Given the description of an element on the screen output the (x, y) to click on. 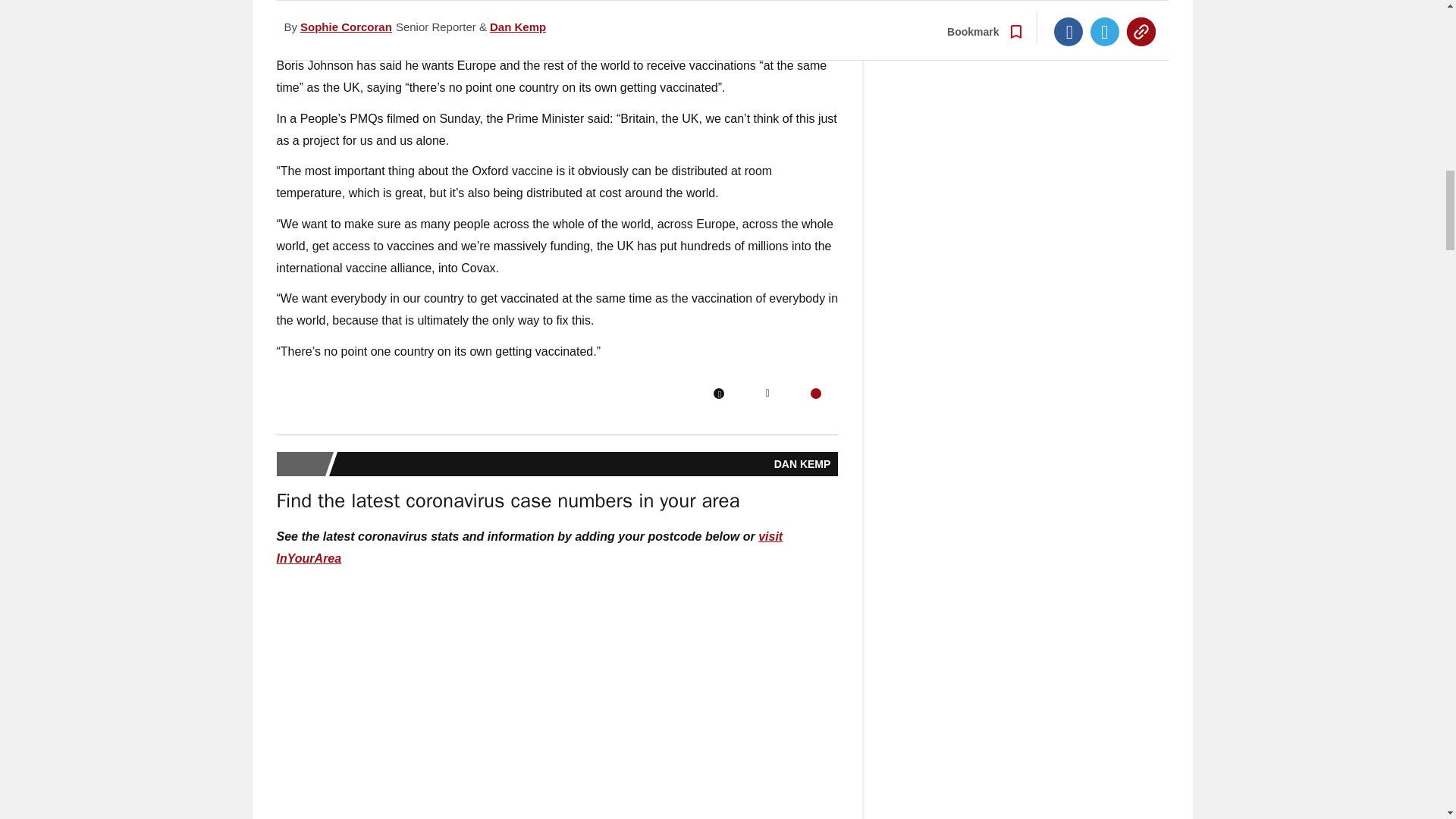
Twitter (767, 393)
Facebook (718, 393)
